Given the description of an element on the screen output the (x, y) to click on. 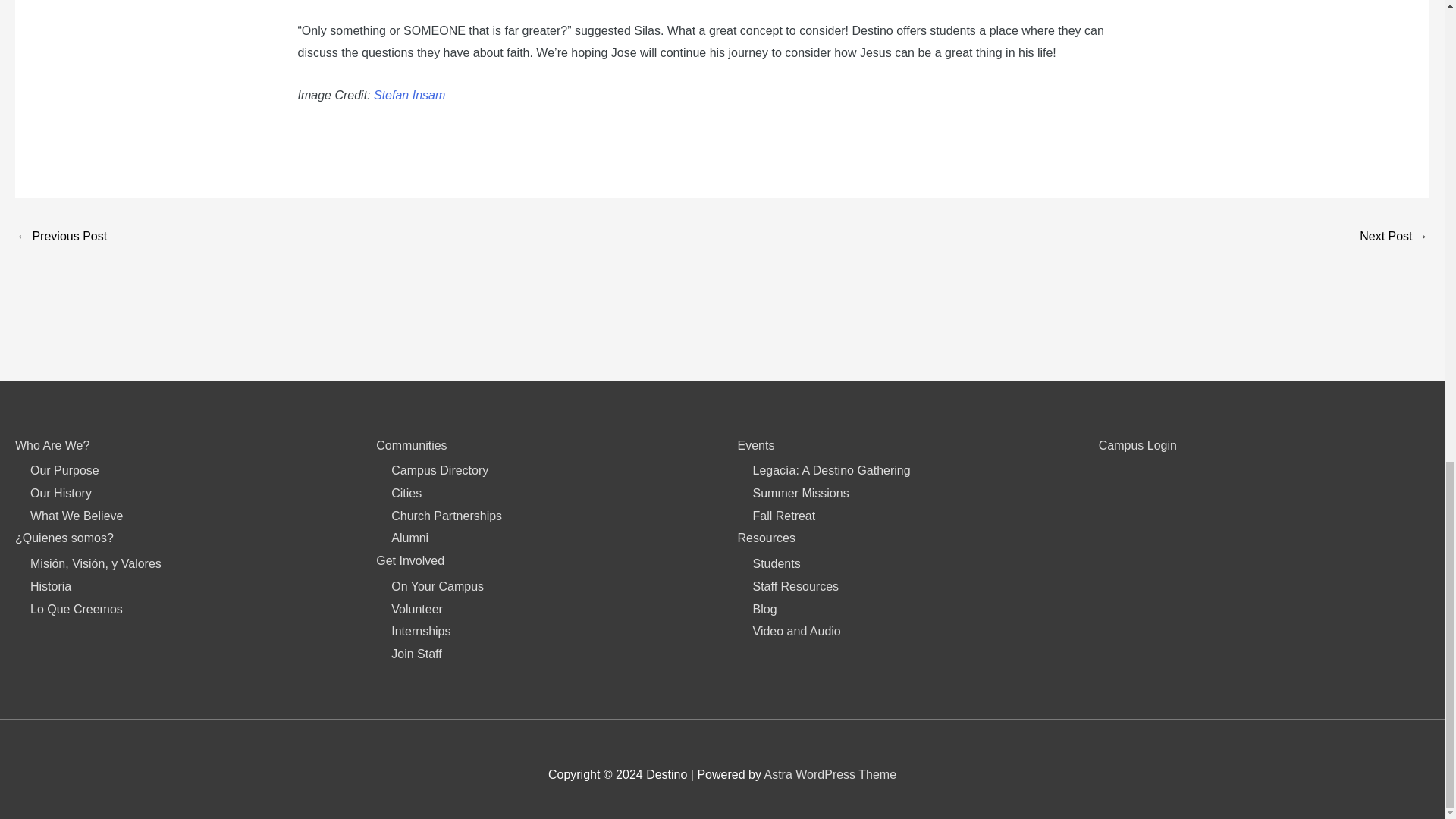
Communities (410, 445)
Campus Directory (439, 470)
Our Purpose (64, 470)
When you hit a wall. (61, 237)
Cities (406, 492)
Stefan Insam (409, 94)
Lo Que Creemos (76, 608)
What We Believe (76, 515)
Our History (60, 492)
Who Are We? (51, 445)
